Given the description of an element on the screen output the (x, y) to click on. 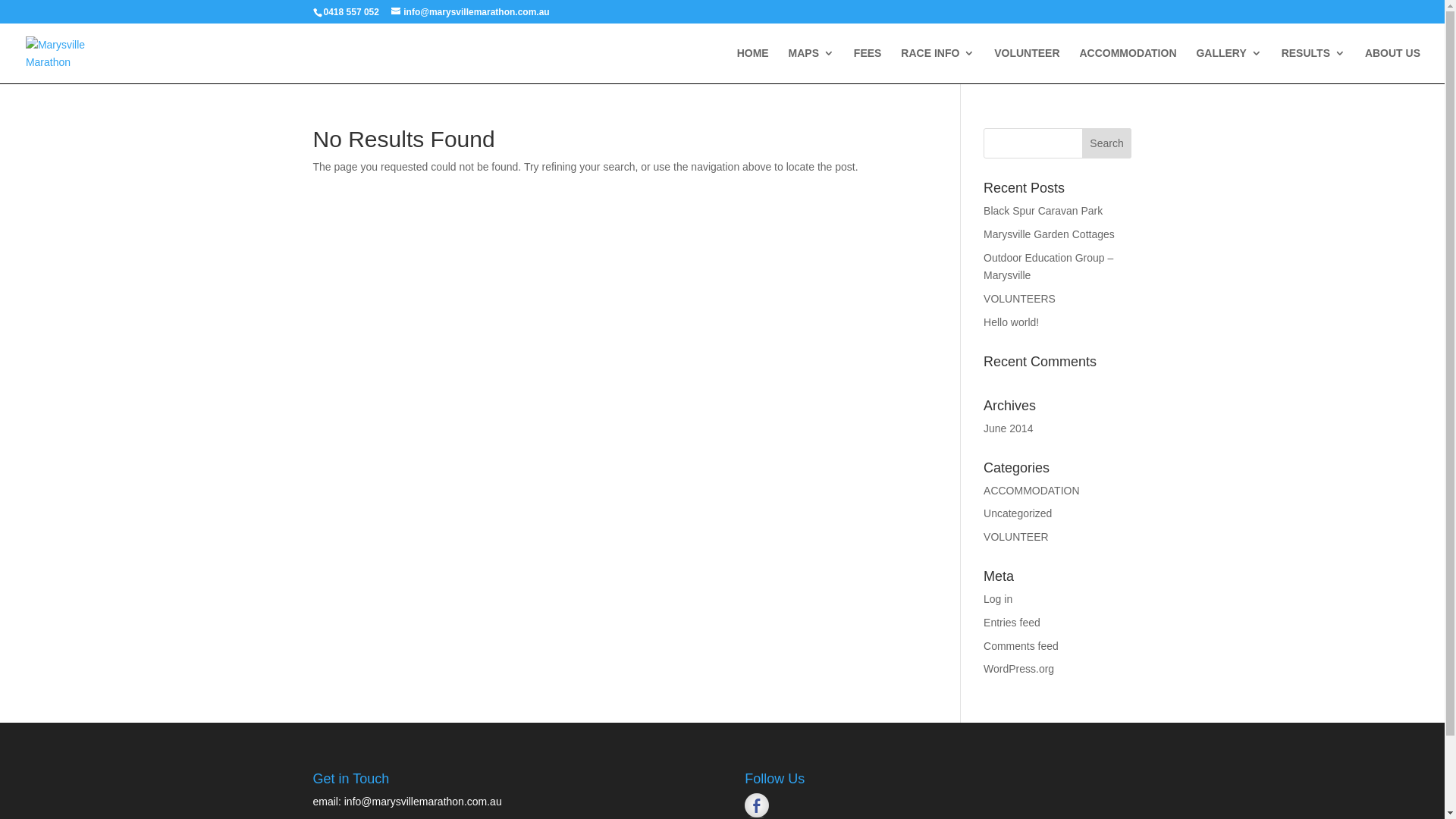
GALLERY Element type: text (1228, 65)
Black Spur Caravan Park Element type: text (1042, 210)
VOLUNTEER Element type: text (1026, 65)
VOLUNTEER Element type: text (1015, 536)
Uncategorized Element type: text (1017, 513)
Log in Element type: text (997, 599)
VOLUNTEERS Element type: text (1019, 298)
ACCOMMODATION Element type: text (1031, 490)
Entries feed Element type: text (1011, 622)
Follow us on Facebook Element type: hover (756, 805)
Marysville Garden Cottages Element type: text (1048, 234)
Comments feed Element type: text (1020, 646)
FEES Element type: text (867, 65)
Search Element type: text (1107, 143)
info@marysvillemarathon.com.au Element type: text (470, 11)
WordPress.org Element type: text (1018, 668)
MAPS Element type: text (811, 65)
RESULTS Element type: text (1313, 65)
Hello world! Element type: text (1010, 322)
info@marysvillemarathon.com.au Element type: text (423, 801)
ABOUT US Element type: text (1392, 65)
ACCOMMODATION Element type: text (1127, 65)
HOME Element type: text (752, 65)
RACE INFO Element type: text (937, 65)
June 2014 Element type: text (1007, 428)
